Given the description of an element on the screen output the (x, y) to click on. 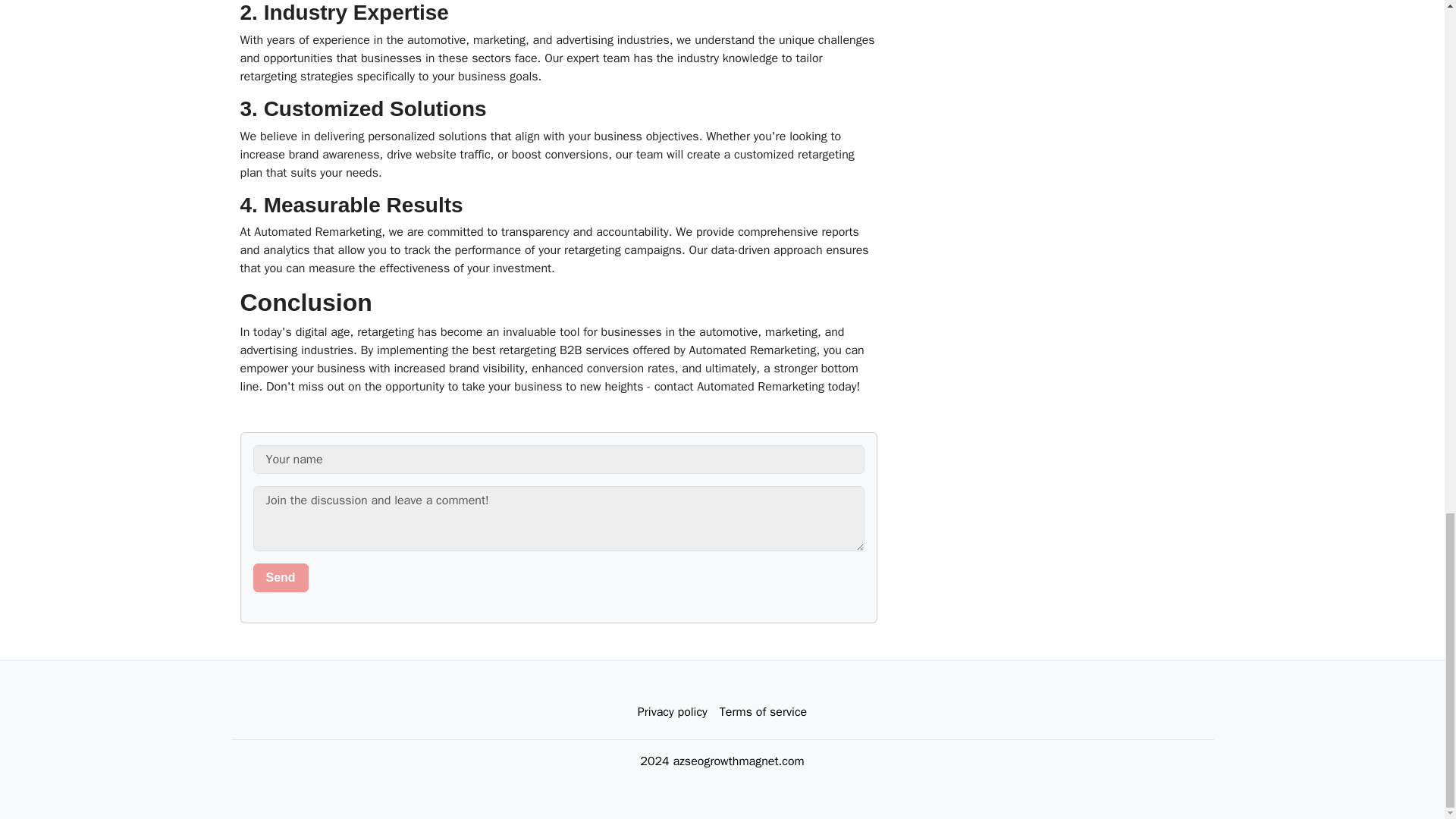
Privacy policy (672, 711)
Send (280, 577)
Send (280, 577)
Terms of service (762, 711)
